Given the description of an element on the screen output the (x, y) to click on. 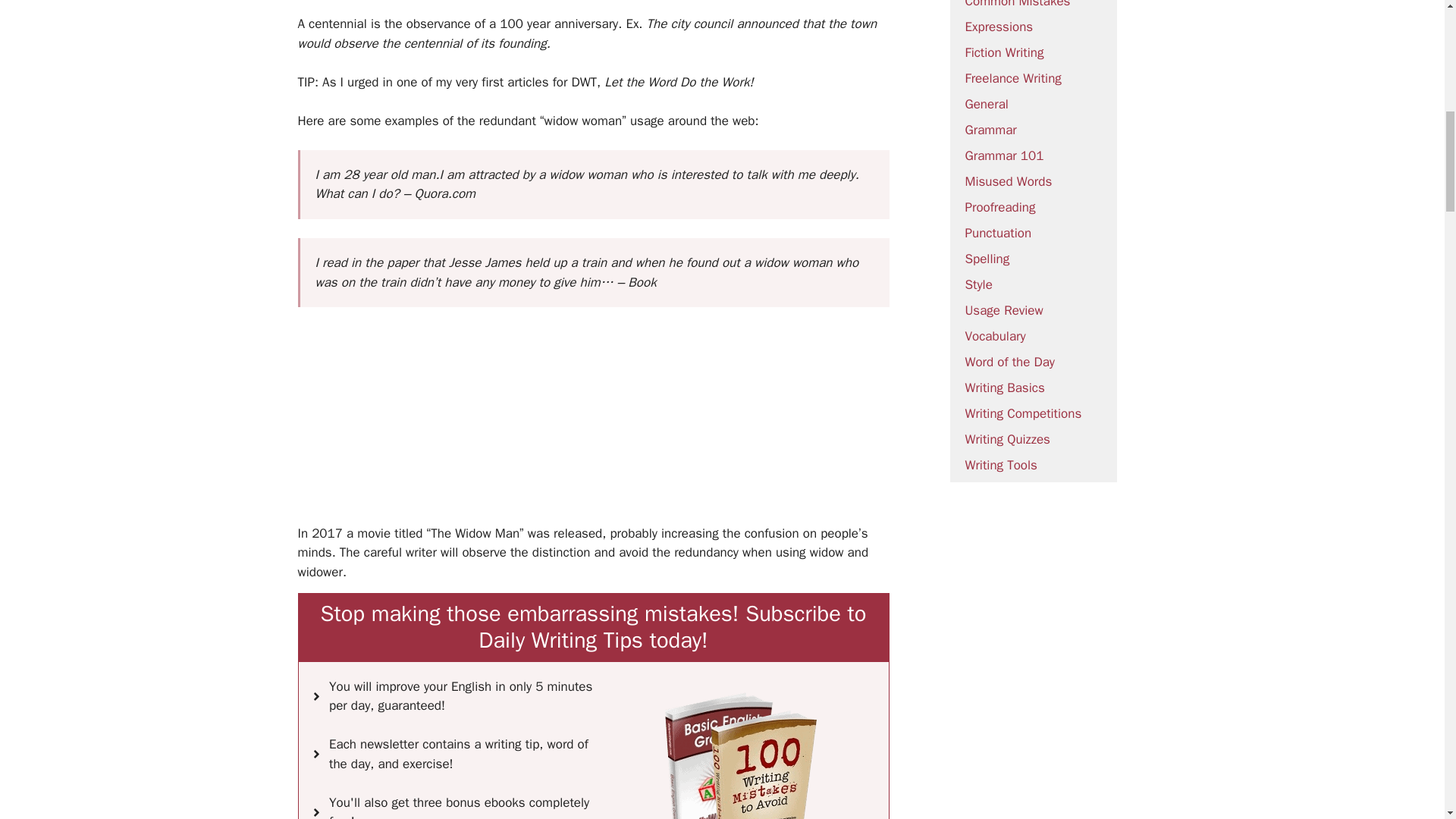
Fiction Writing (1003, 52)
Common Mistakes (1016, 4)
Freelance Writing (1012, 78)
Expressions (997, 26)
img (740, 755)
General (985, 104)
